Given the description of an element on the screen output the (x, y) to click on. 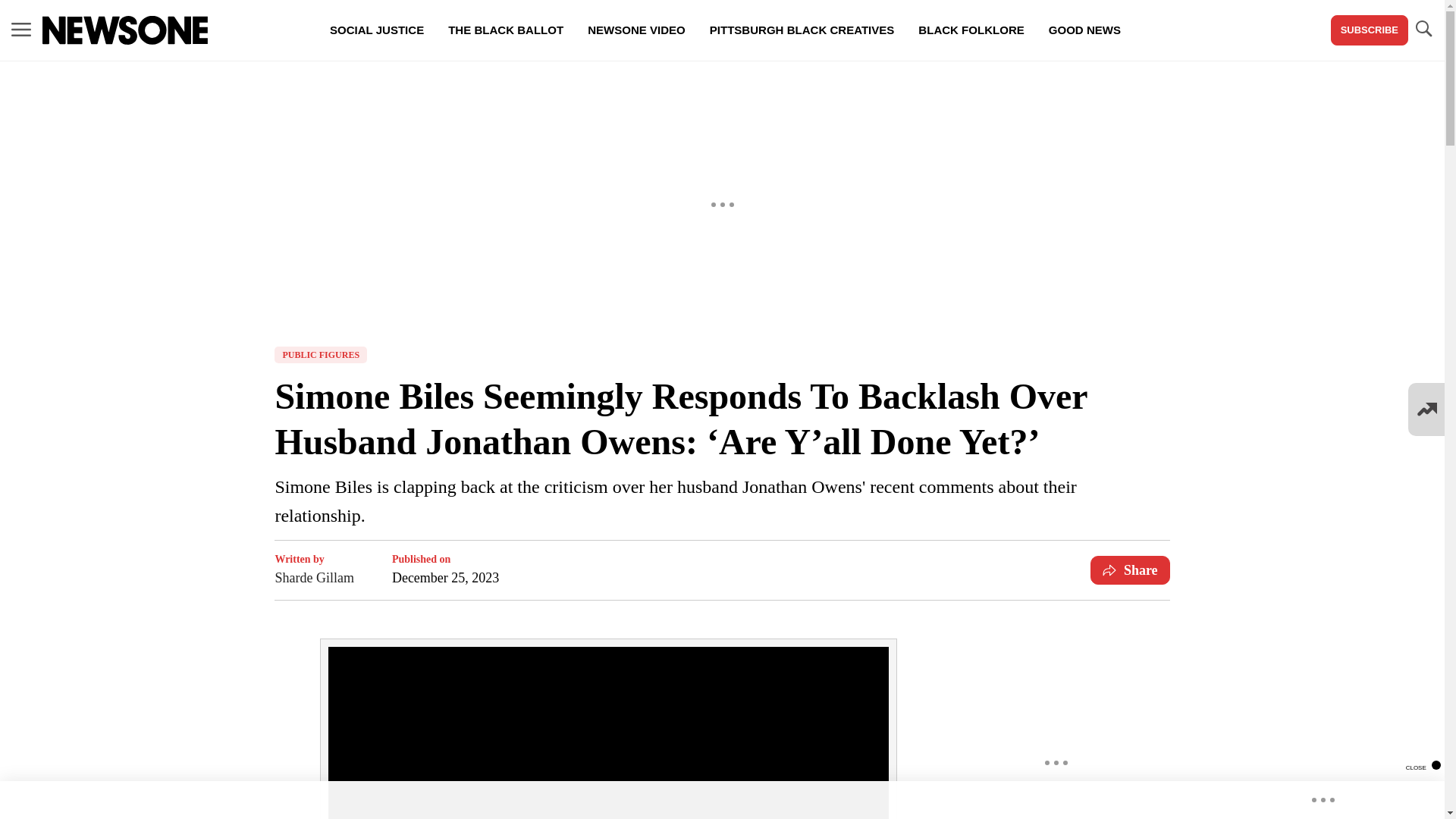
THE BLACK BALLOT (505, 30)
Share (1130, 570)
BLACK FOLKLORE (970, 30)
TOGGLE SEARCH (1422, 30)
SOCIAL JUSTICE (376, 30)
PITTSBURGH BLACK CREATIVES (802, 30)
NEWSONE VIDEO (636, 30)
TOGGLE SEARCH (1422, 28)
MENU (20, 29)
SUBSCRIBE (1368, 30)
